Given the description of an element on the screen output the (x, y) to click on. 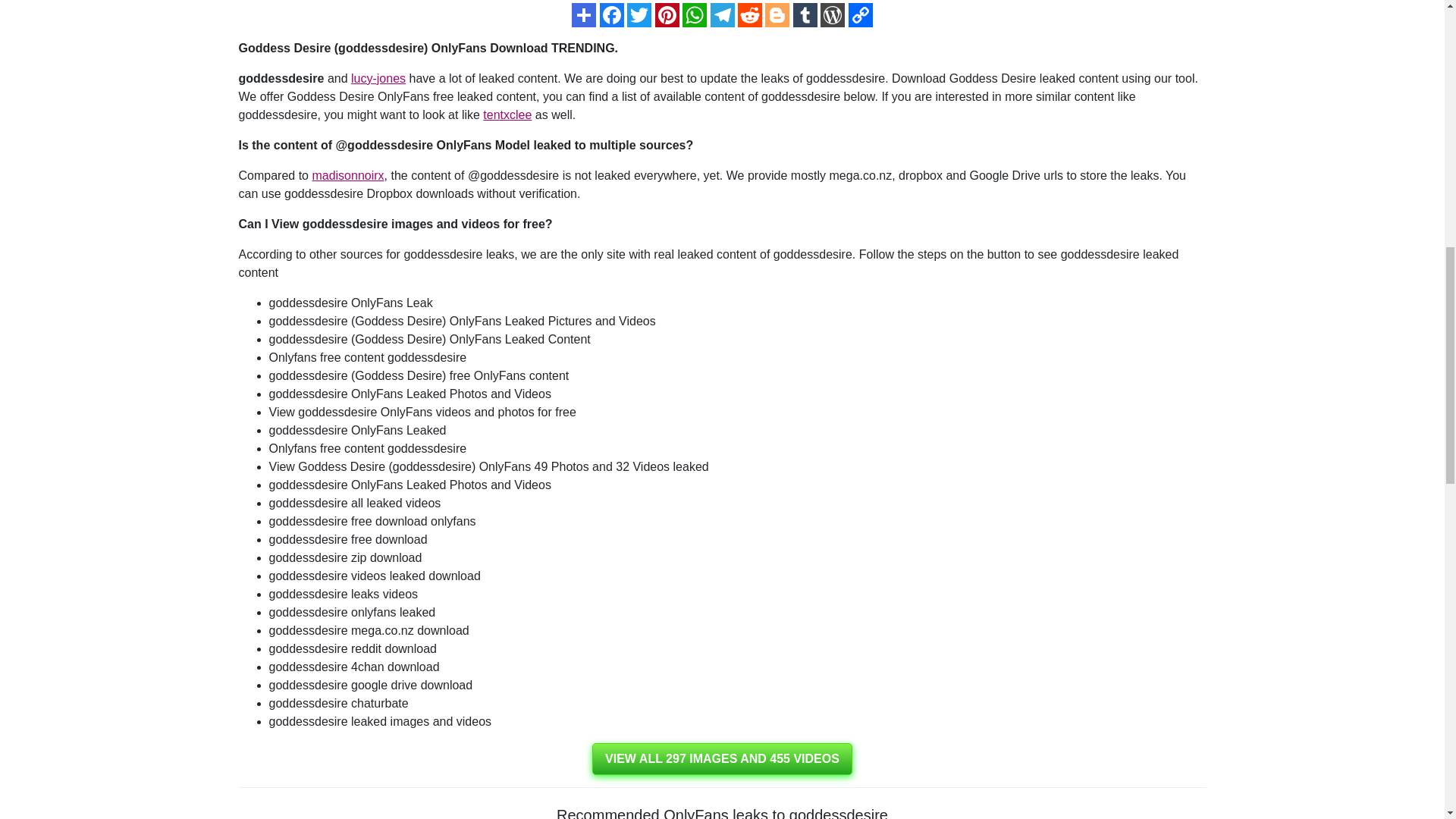
VIEW ALL 297 IMAGES AND 455 VIDEOS (721, 758)
lucy-jones (378, 78)
madisonnoirx (347, 174)
tentxclee (507, 114)
